Given the description of an element on the screen output the (x, y) to click on. 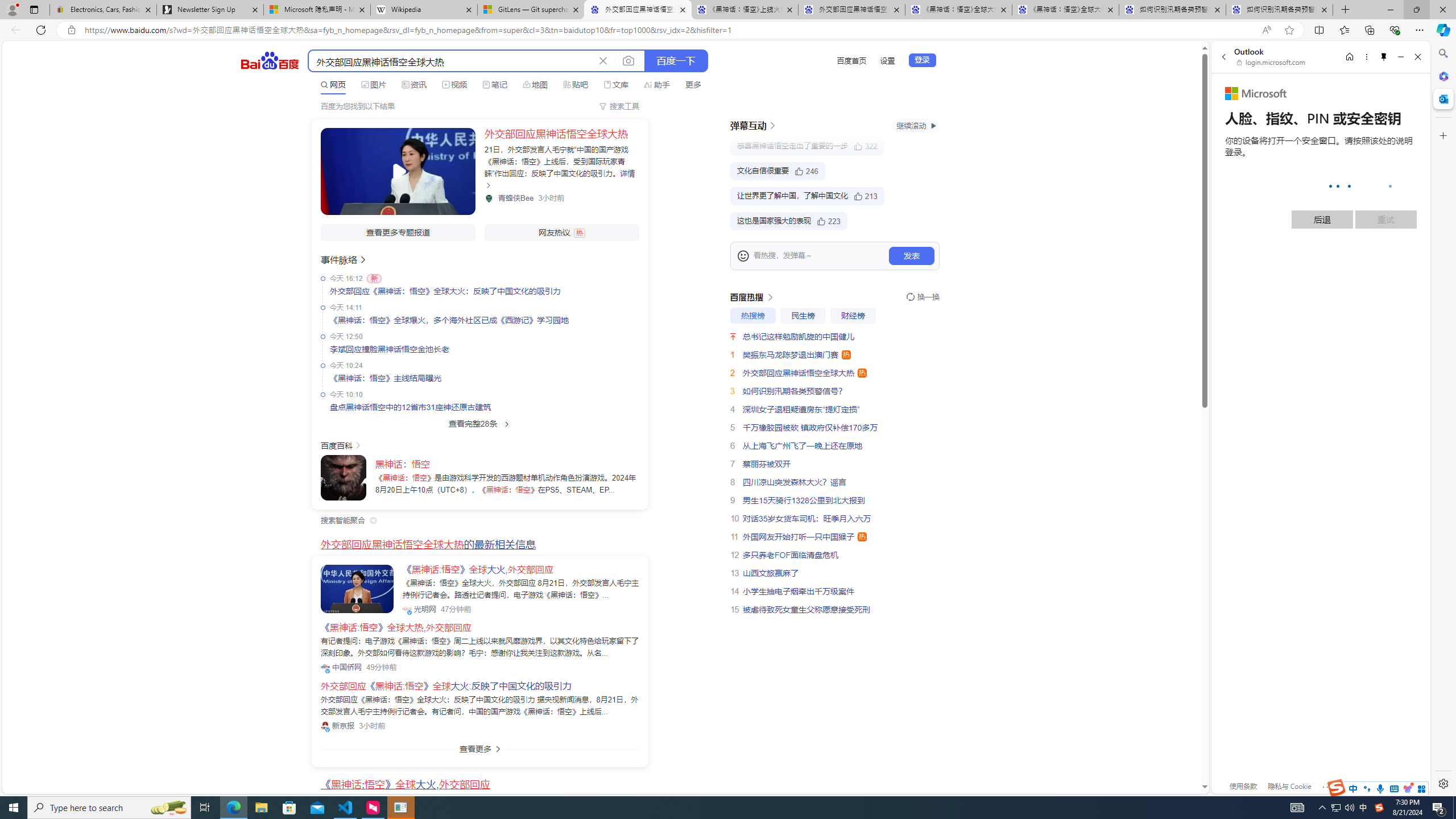
AutomationID: kw (451, 61)
Class: c-img c-img-radius-large (356, 589)
